Given the description of an element on the screen output the (x, y) to click on. 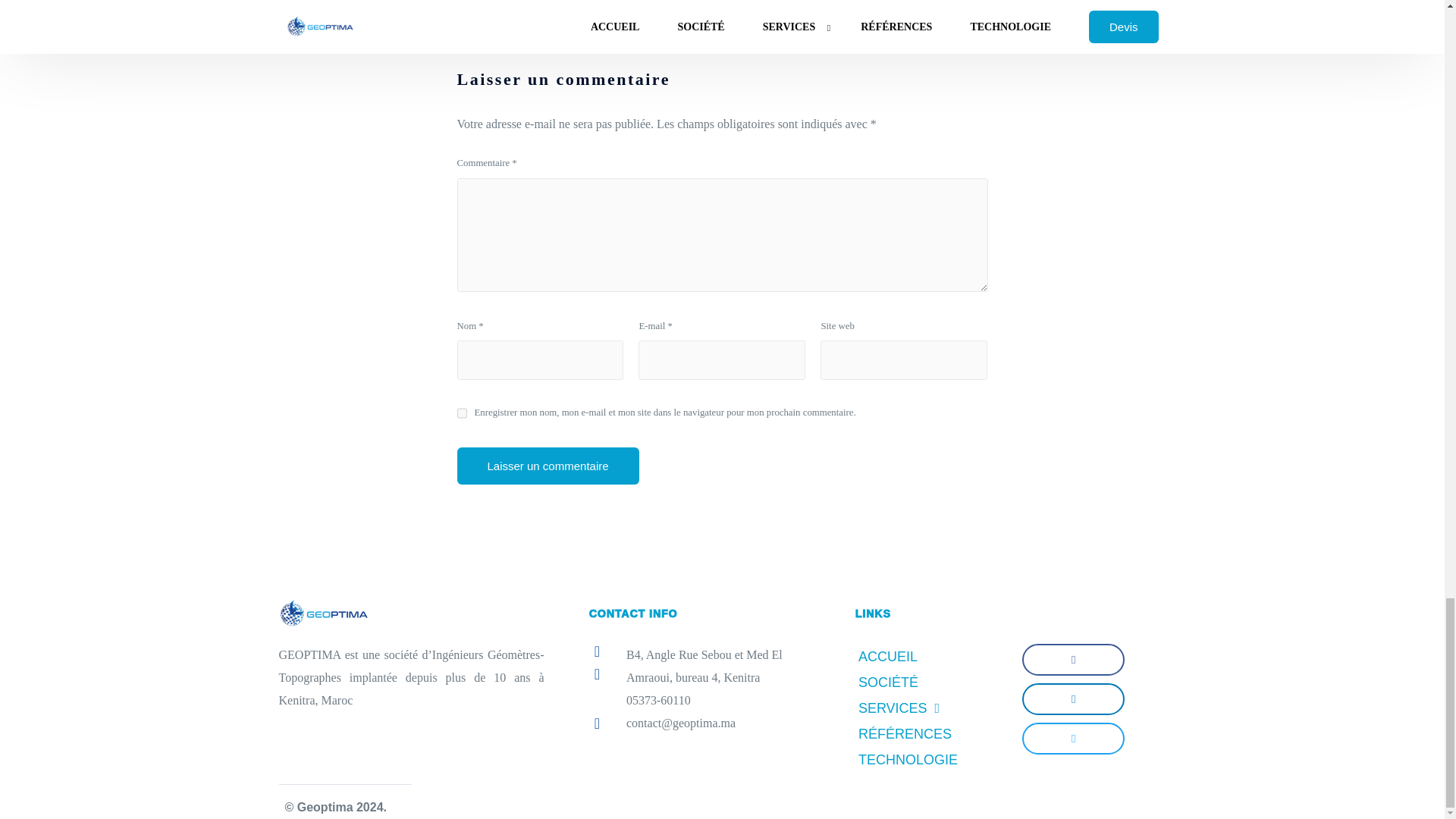
Laisser un commentaire (548, 465)
Laisser un commentaire (548, 465)
SERVICES (929, 708)
ACCUEIL (929, 656)
